Given the description of an element on the screen output the (x, y) to click on. 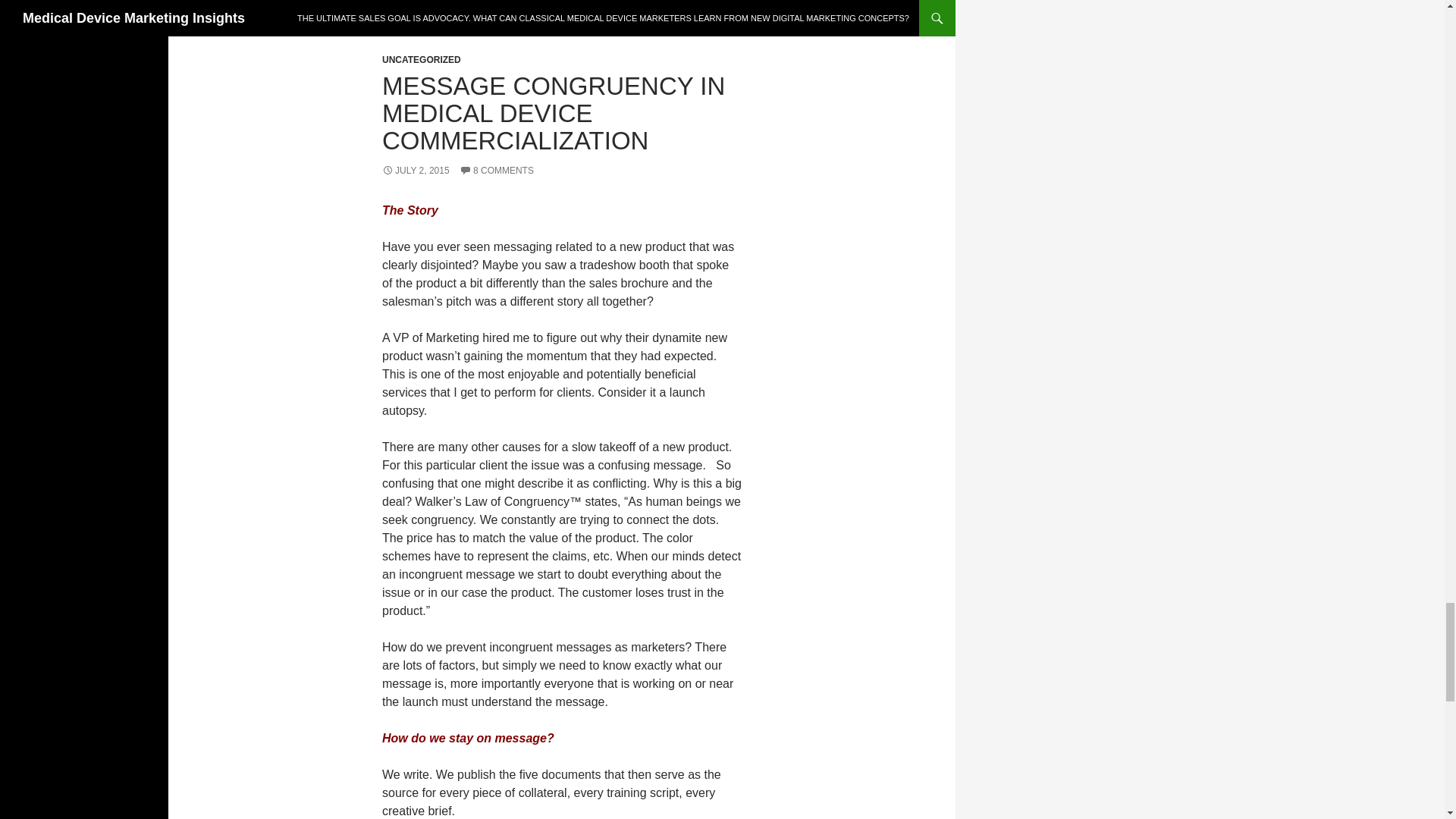
8 COMMENTS (497, 170)
JULY 2, 2015 (415, 170)
MESSAGE CONGRUENCY IN MEDICAL DEVICE COMMERCIALIZATION (553, 113)
UNCATEGORIZED (421, 59)
